Given the description of an element on the screen output the (x, y) to click on. 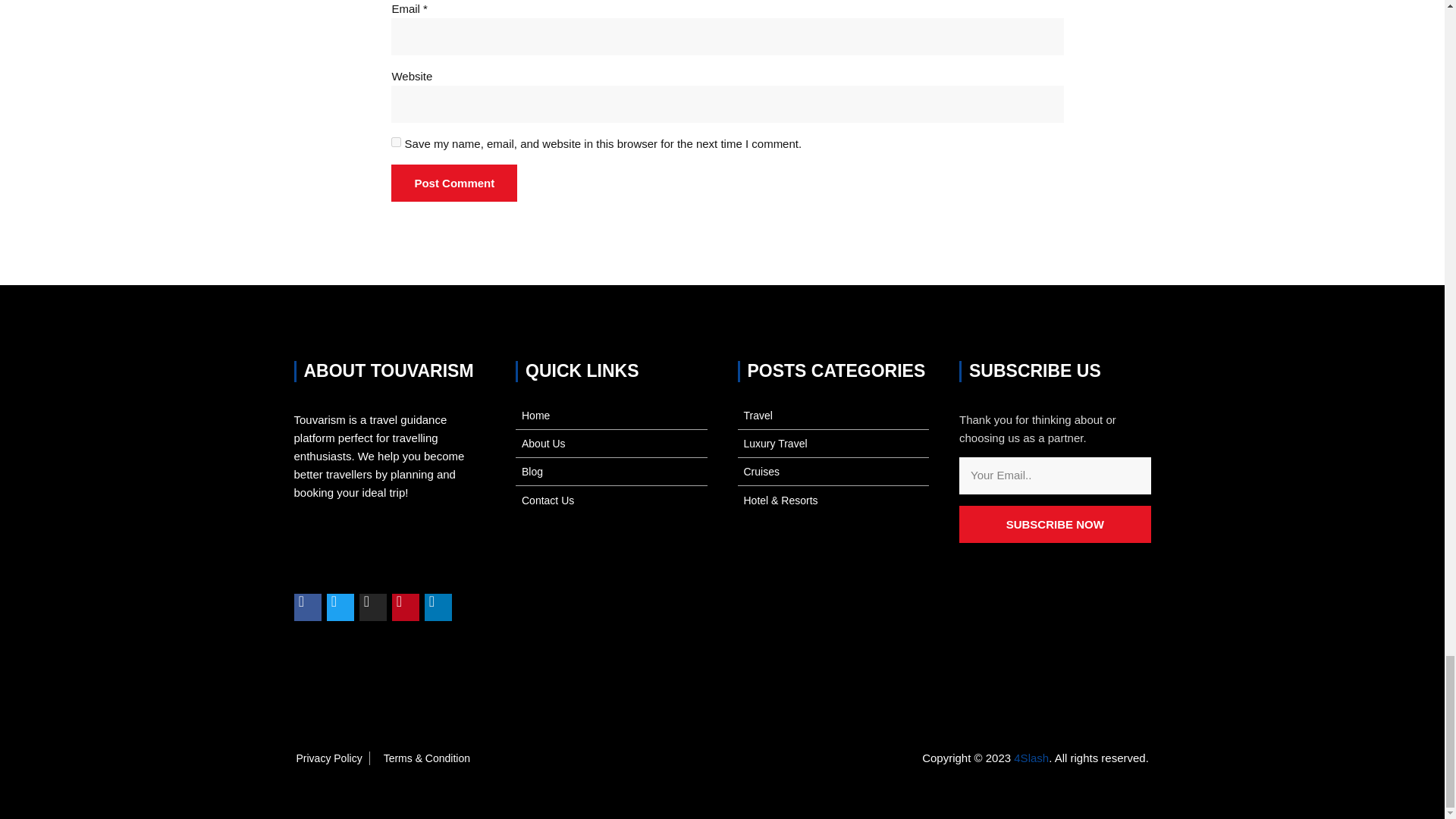
Post Comment (453, 183)
yes (396, 142)
